Given the description of an element on the screen output the (x, y) to click on. 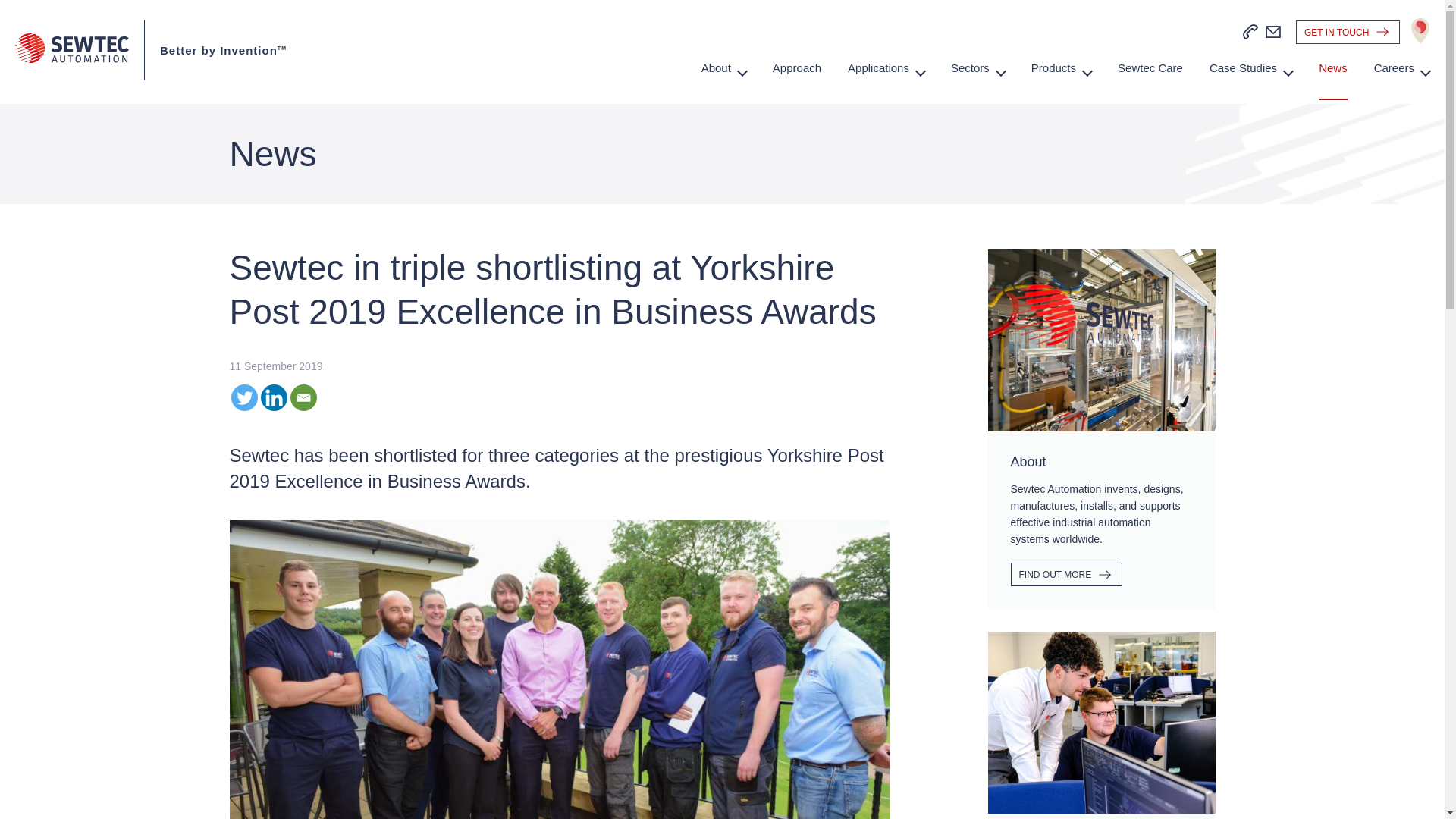
Linkedin (273, 397)
Email (302, 397)
Twitter (243, 397)
